Given the description of an element on the screen output the (x, y) to click on. 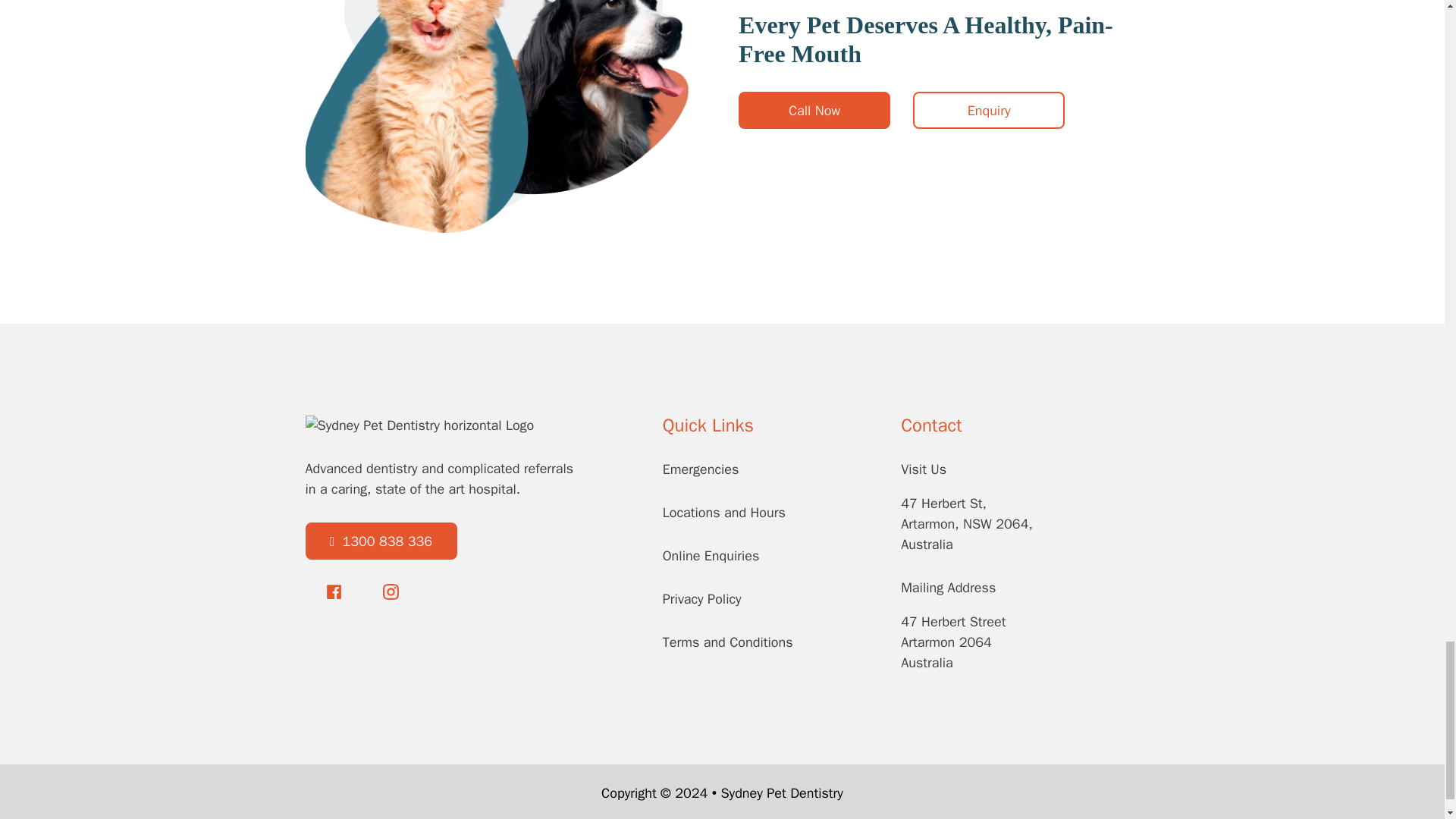
Online Enquiries (711, 556)
Follow us on Facebook (333, 594)
Follow us on Instagram (389, 594)
